Given the description of an element on the screen output the (x, y) to click on. 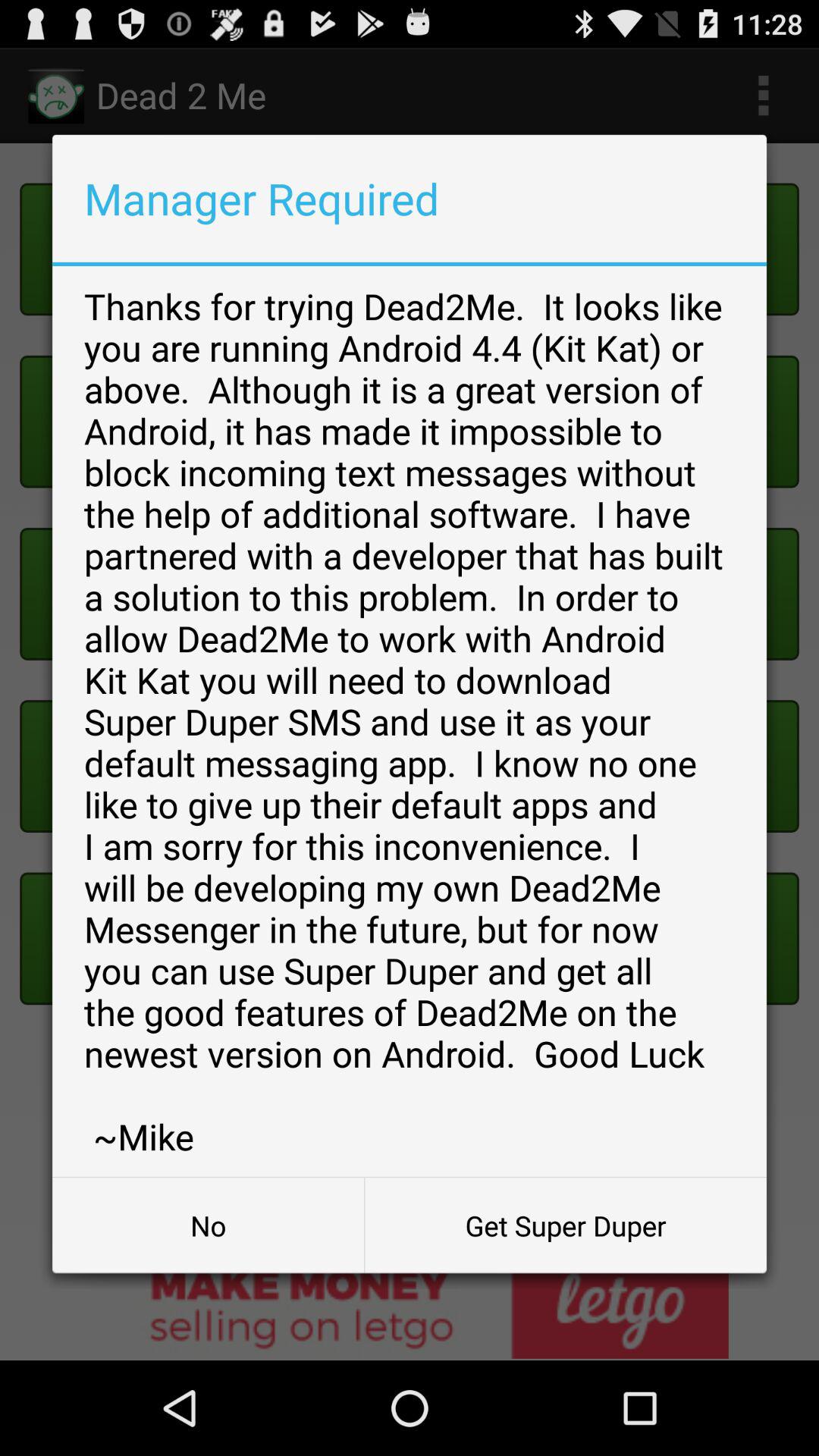
jump to no icon (208, 1225)
